Given the description of an element on the screen output the (x, y) to click on. 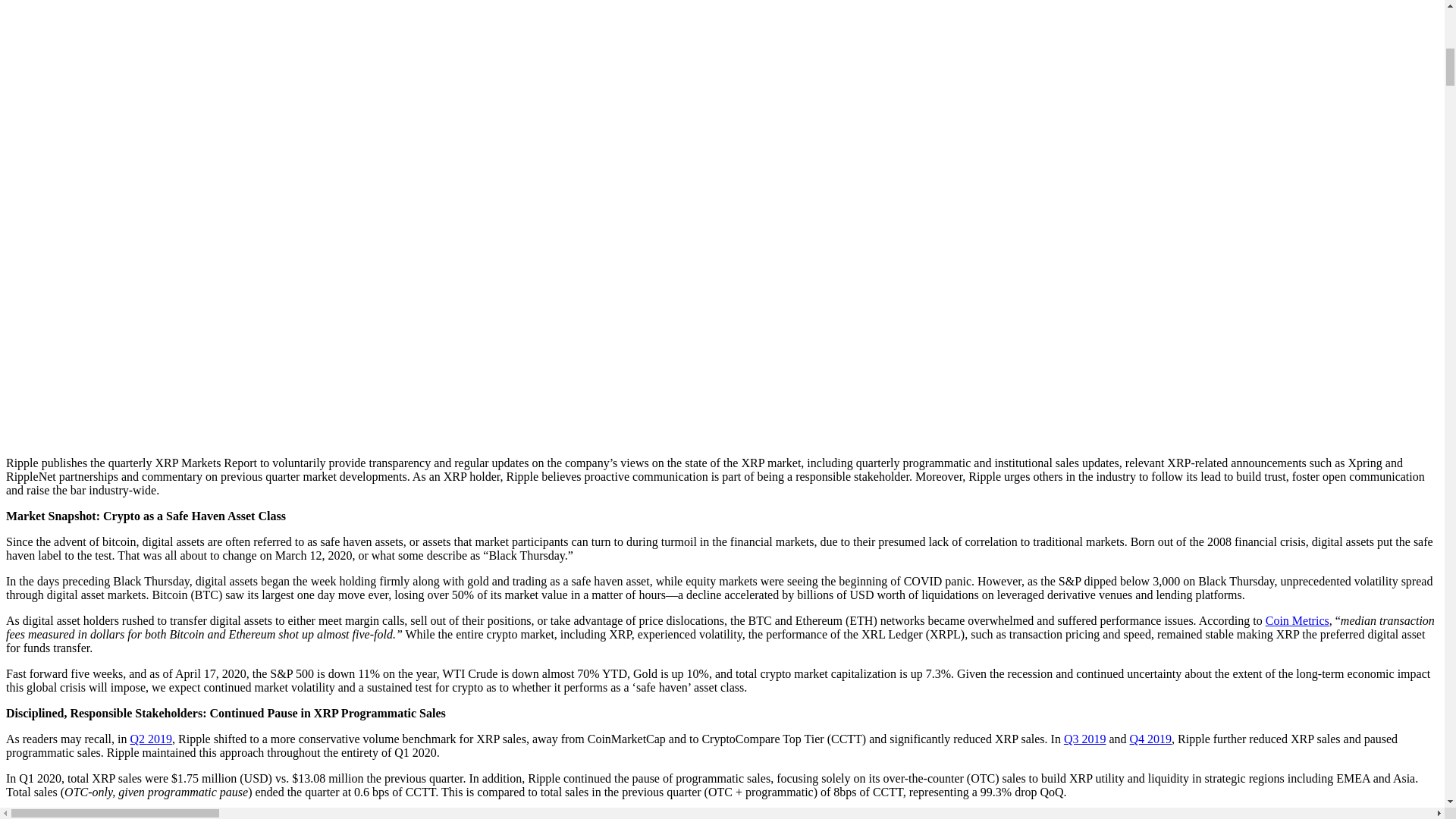
Q2 2019 (150, 738)
Q3 2019 (1085, 738)
Q4 2019 (1150, 738)
Coin Metrics (1297, 620)
